Given the description of an element on the screen output the (x, y) to click on. 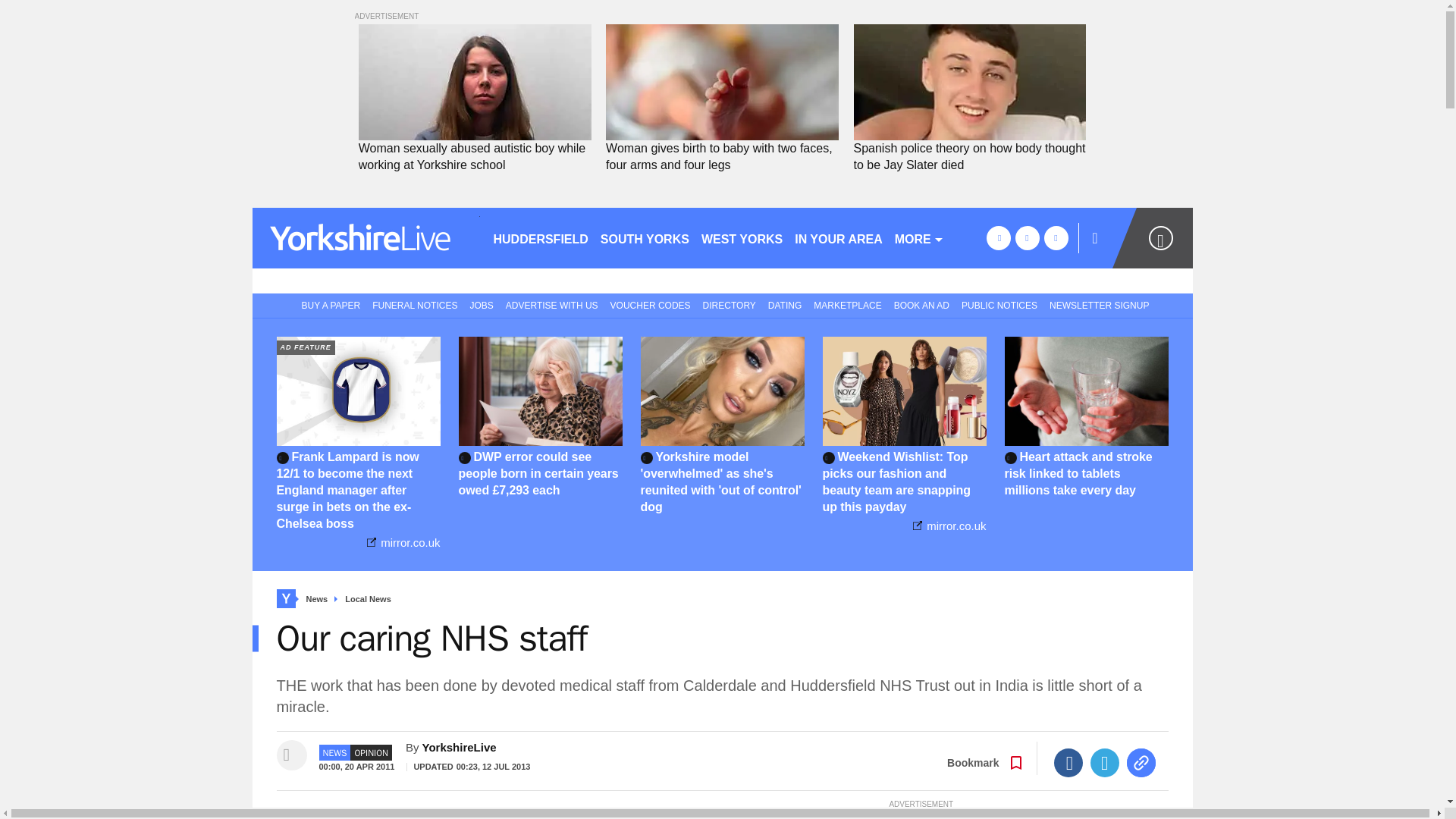
HUDDERSFIELD (540, 238)
instagram (1055, 238)
SOUTH YORKS (644, 238)
twitter (1026, 238)
MORE (919, 238)
Facebook (1068, 762)
Twitter (1104, 762)
